Given the description of an element on the screen output the (x, y) to click on. 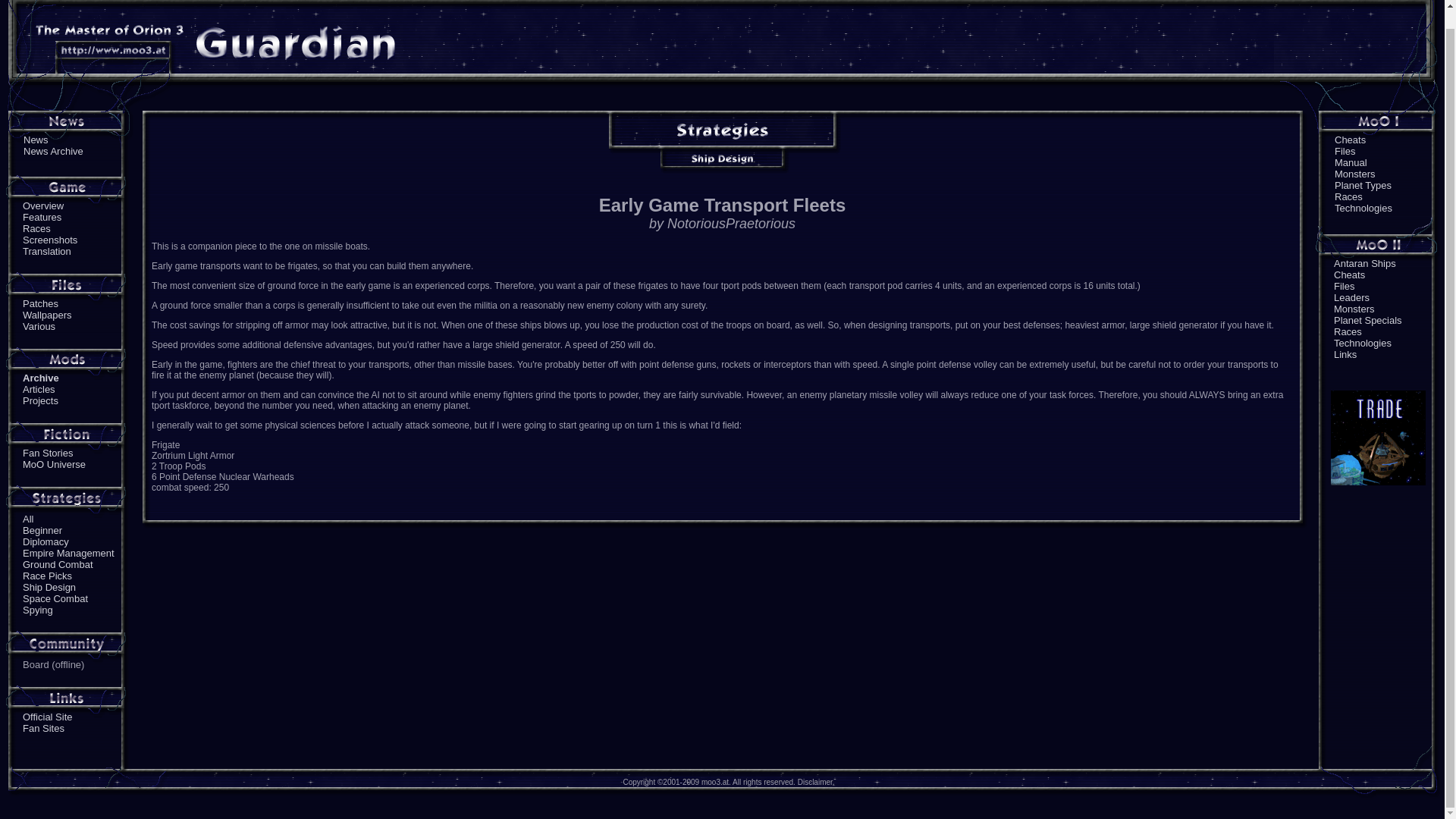
Fan Sites (43, 727)
Files (1345, 151)
Ground Combat (58, 564)
Beginner (42, 530)
Leaders (1351, 297)
Official Site (47, 716)
Translation (47, 251)
Antaran Ships (1364, 263)
Races (1348, 196)
Races (1347, 331)
Spying (37, 609)
MoO Universe (54, 464)
Screenshots (50, 239)
Diplomacy (45, 541)
Planet Specials (1367, 319)
